Given the description of an element on the screen output the (x, y) to click on. 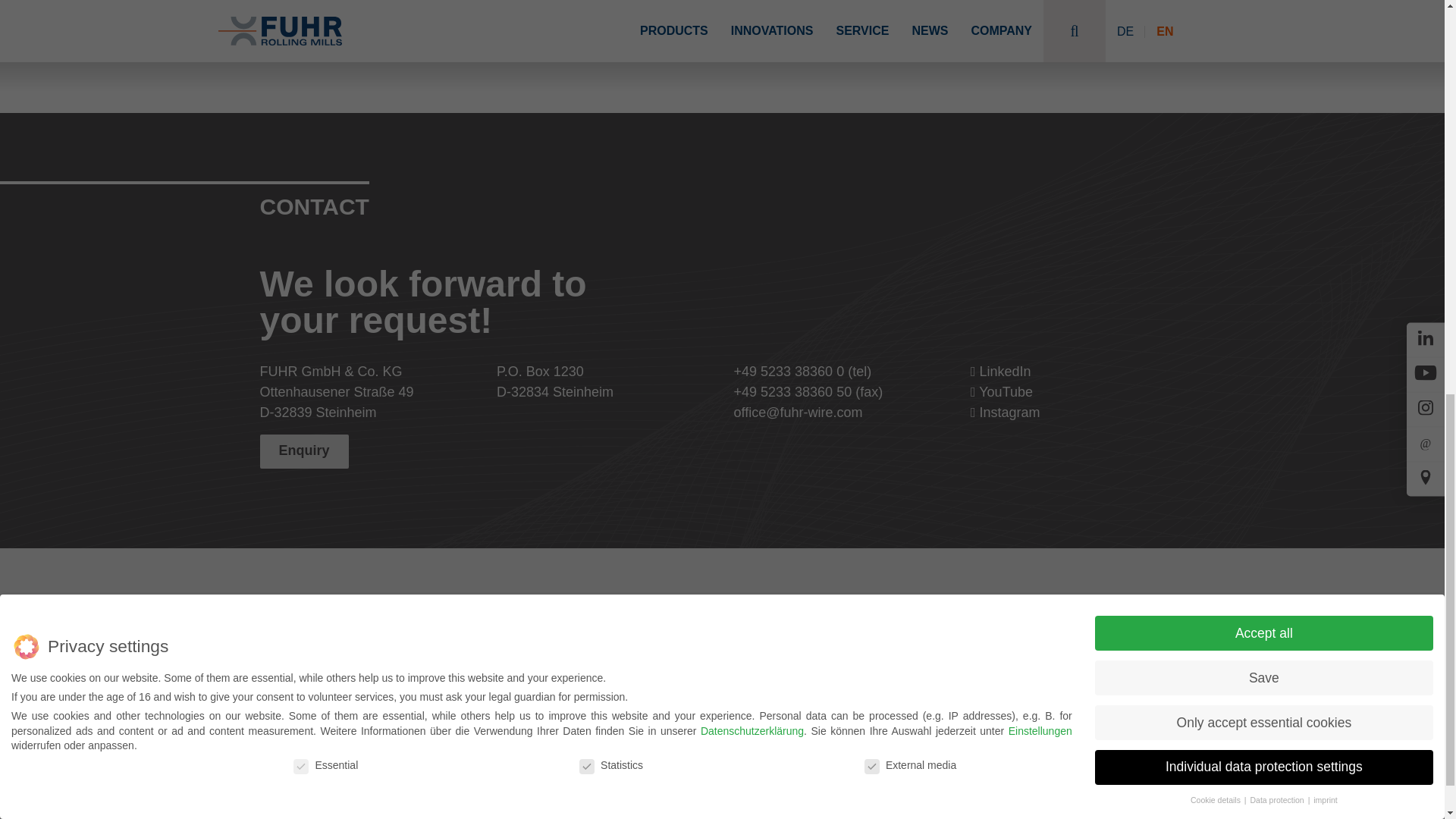
Open Cookie Preferences (32, 2)
History (905, 677)
Mission (905, 659)
Social Responsibility (905, 696)
Enquiry (303, 451)
